Given the description of an element on the screen output the (x, y) to click on. 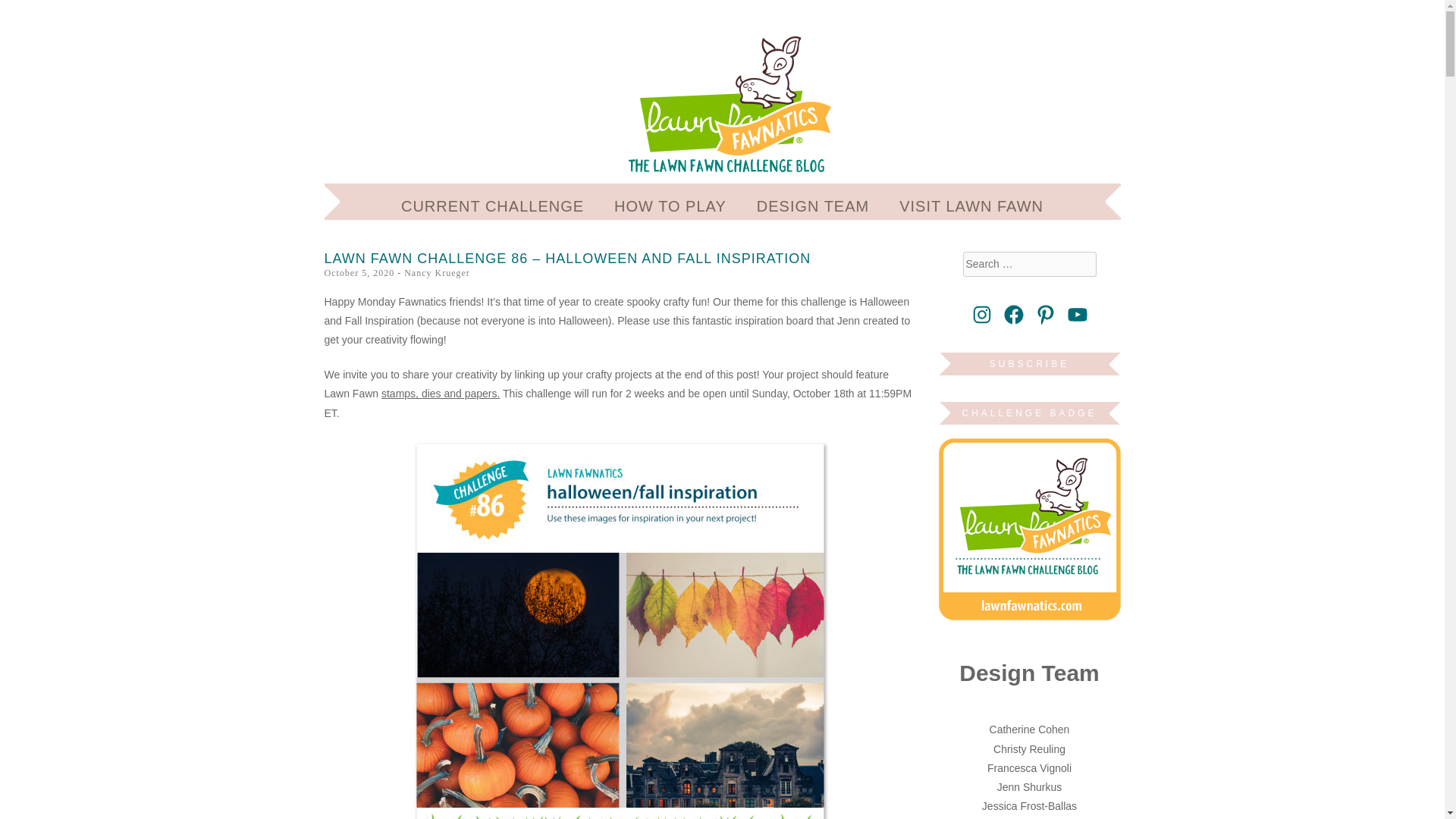
October 5, 2020 (359, 272)
CURRENT CHALLENGE (492, 206)
DESIGN TEAM (813, 206)
Nancy Krueger (437, 272)
VISIT LAWN FAWN (971, 206)
HOW TO PLAY (670, 206)
stamps, dies and papers. (440, 393)
LAWN FAWNATICS (536, 61)
